Given the description of an element on the screen output the (x, y) to click on. 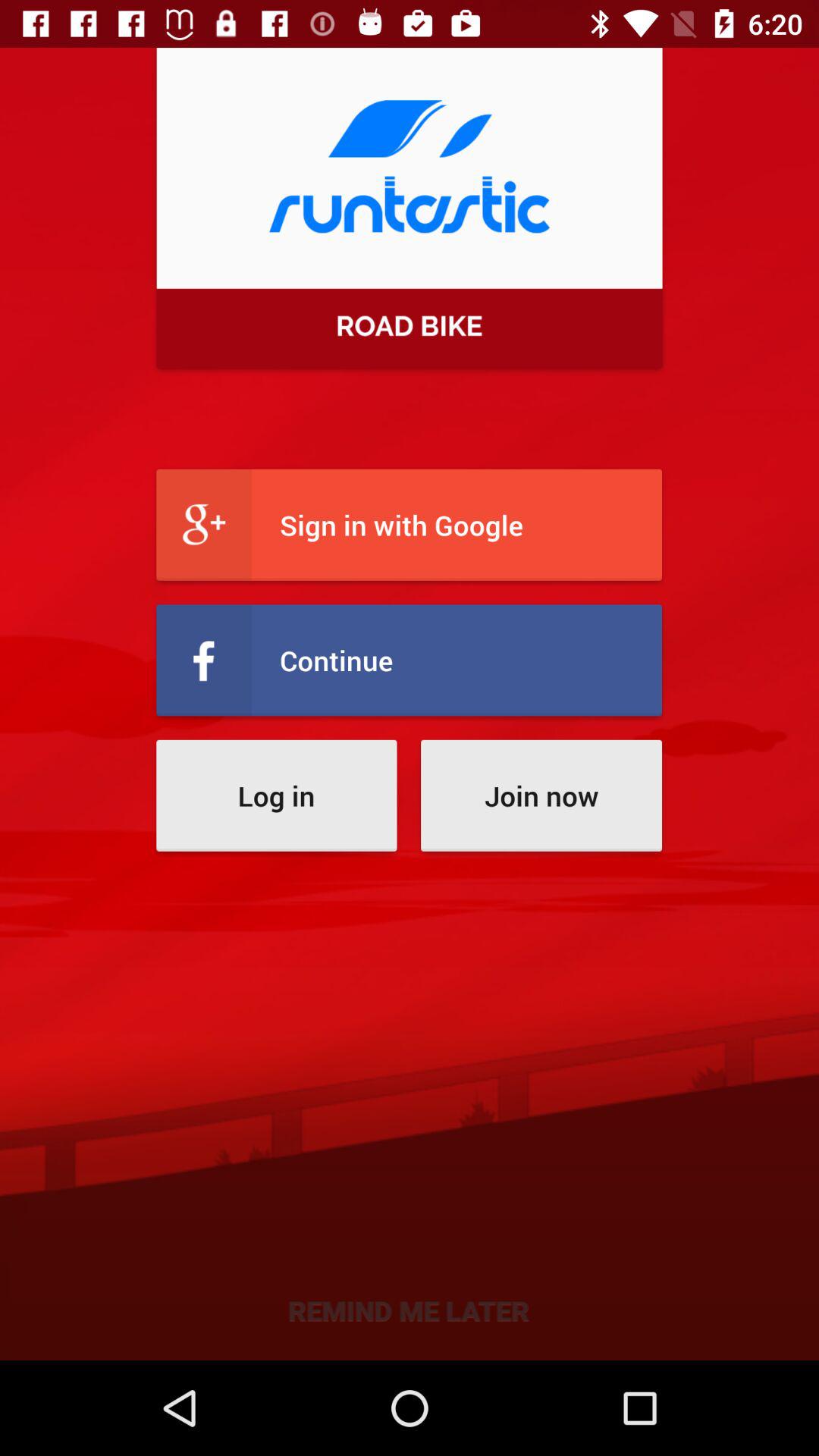
turn off icon below the continue (276, 795)
